Given the description of an element on the screen output the (x, y) to click on. 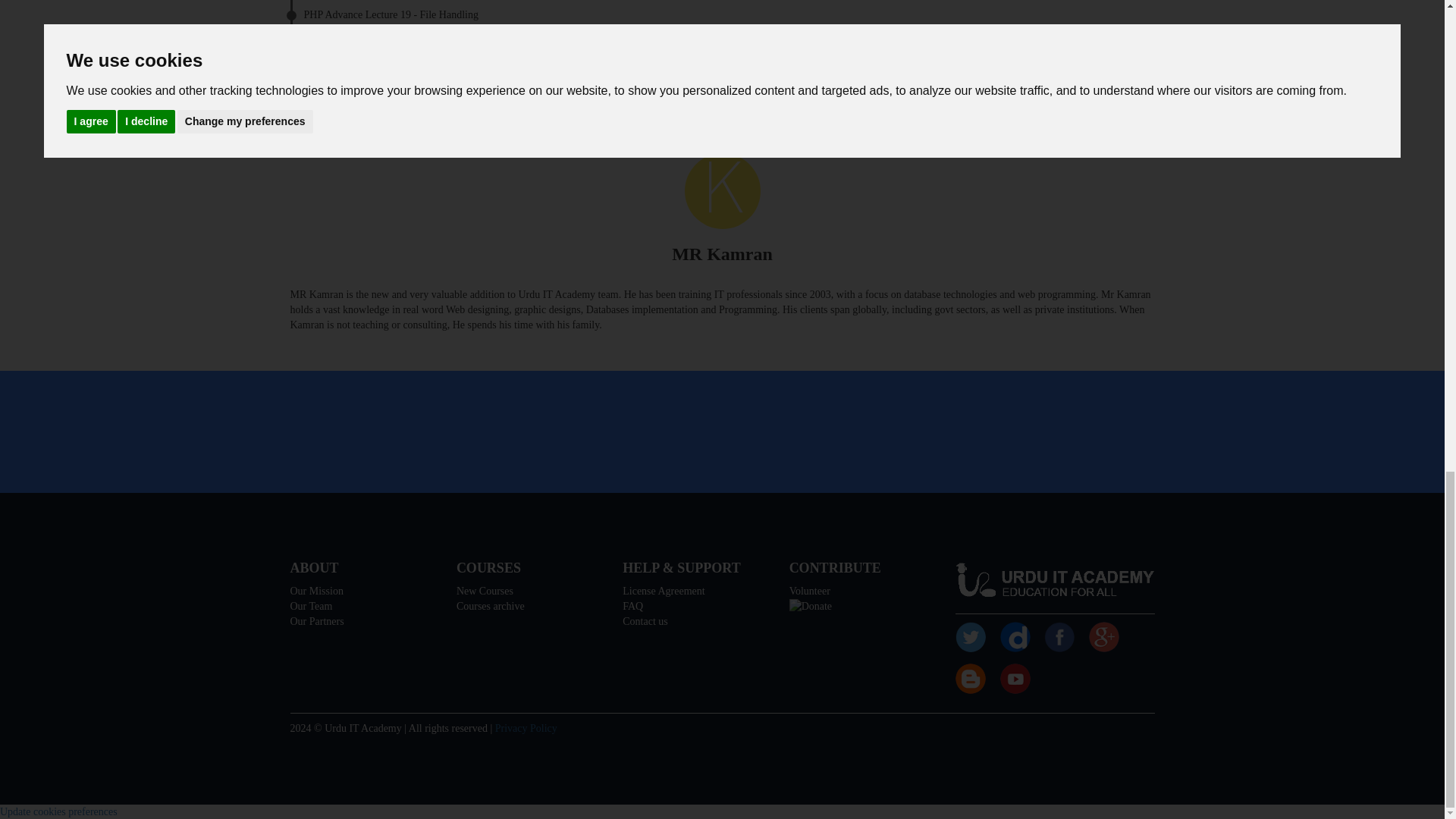
Advertisement (721, 432)
